Given the description of an element on the screen output the (x, y) to click on. 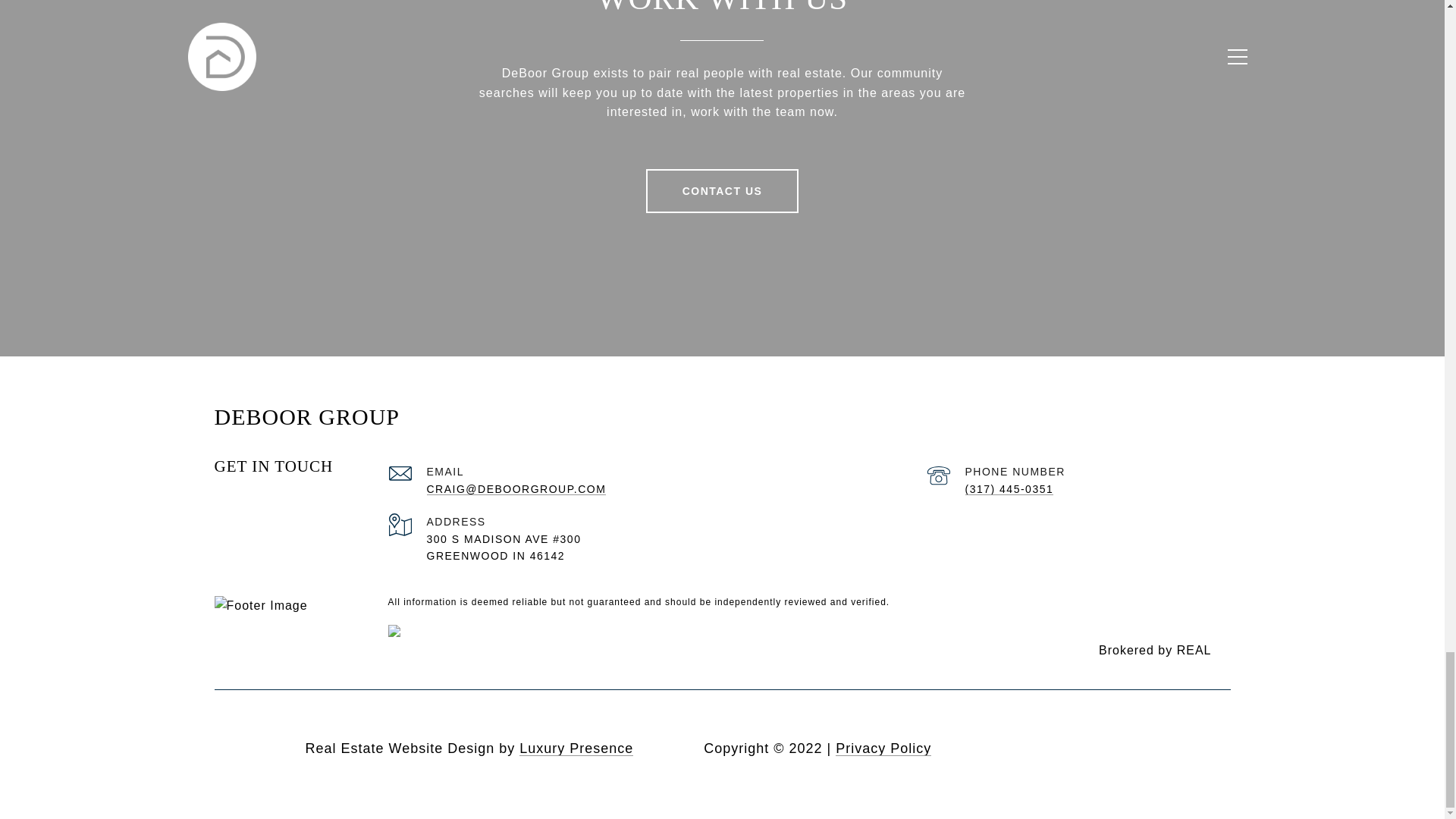
CONTACT US (722, 190)
